Given the description of an element on the screen output the (x, y) to click on. 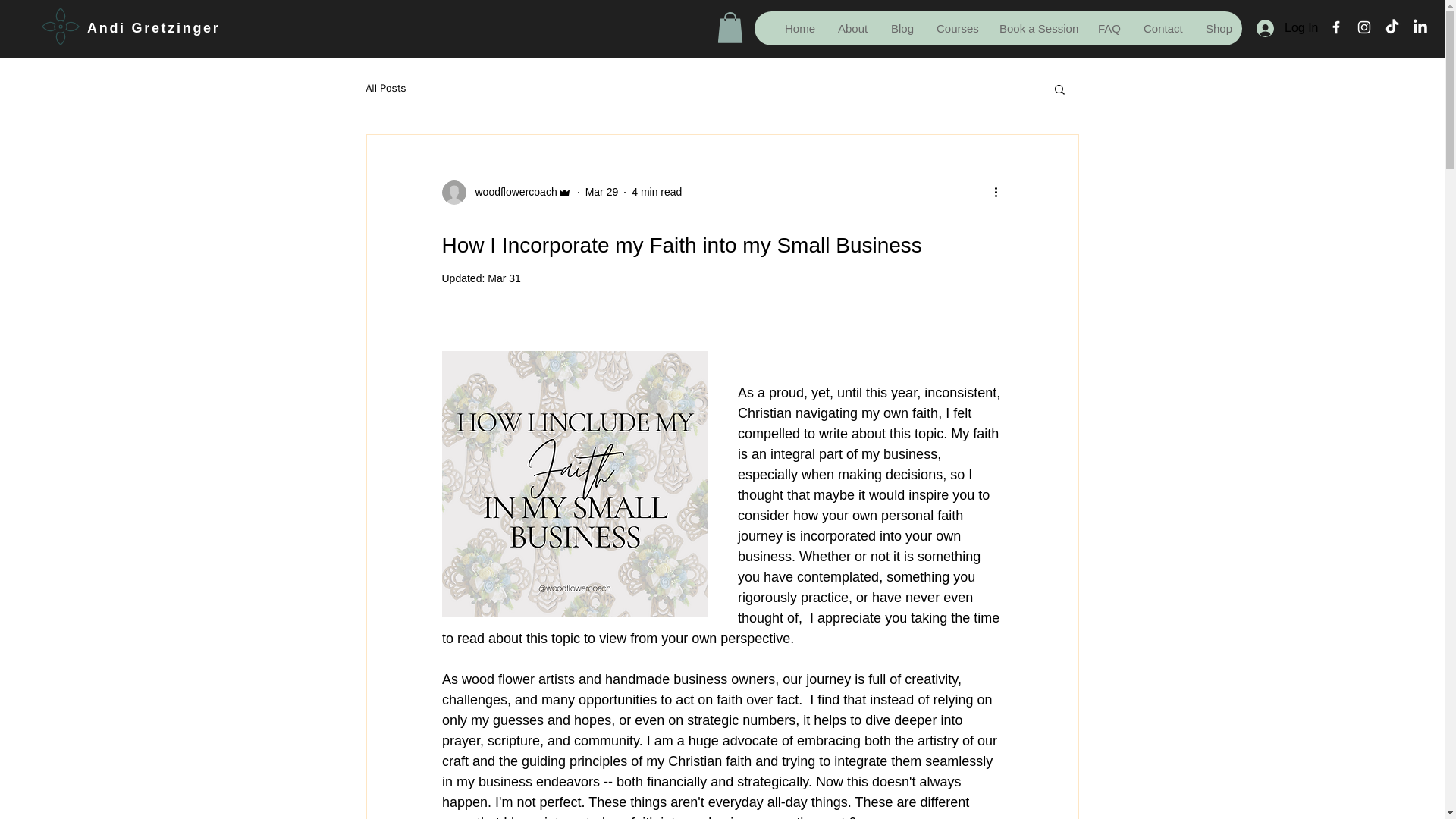
FAQ (1108, 28)
All Posts (385, 88)
Courses (955, 28)
Shop (1217, 28)
Andi Gretzinger (154, 28)
woodflowercoach (510, 191)
Book a Session (1036, 28)
4 min read (656, 191)
Log In (1282, 28)
Contact (1162, 28)
